Given the description of an element on the screen output the (x, y) to click on. 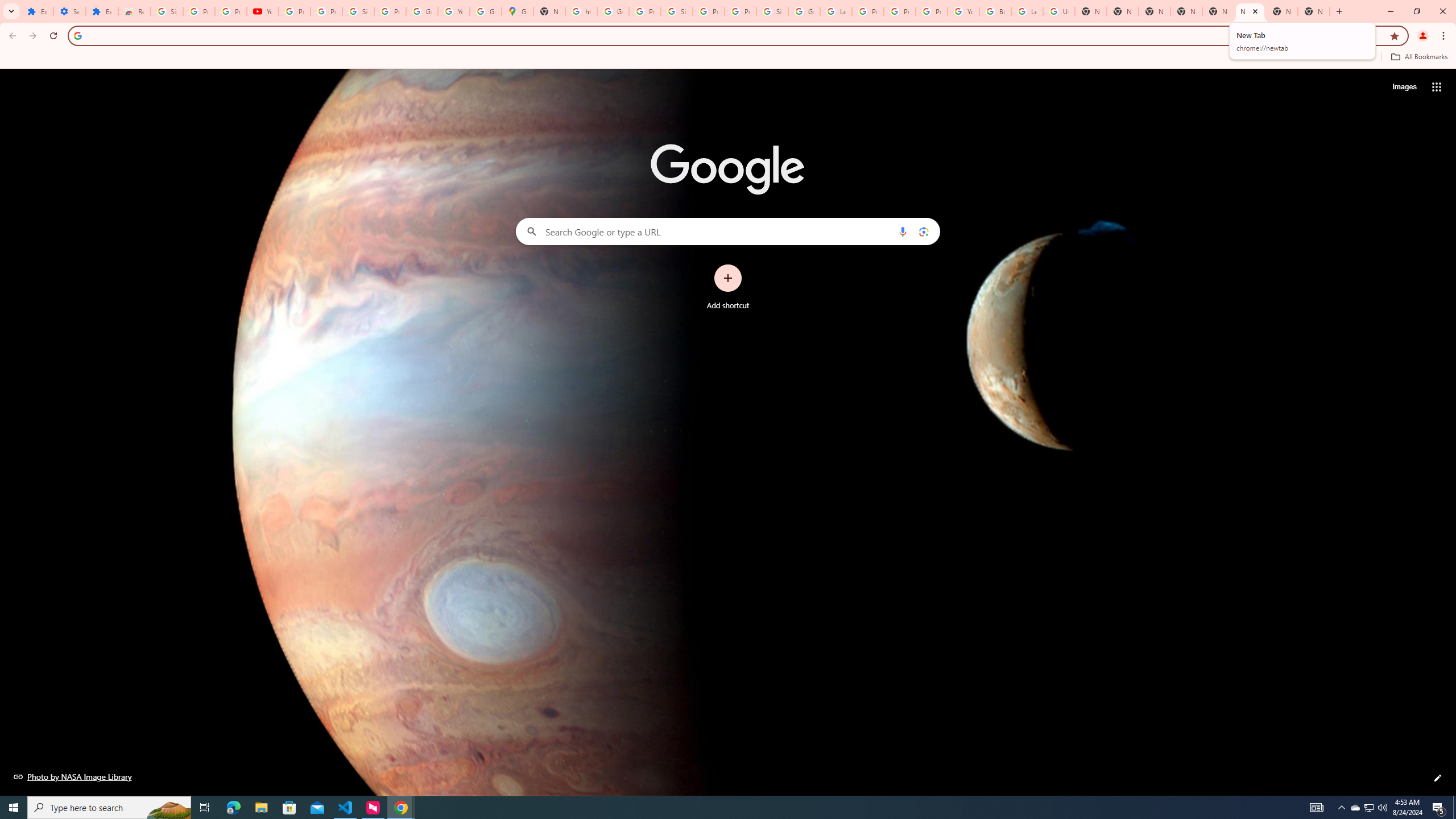
Sign in - Google Accounts (358, 11)
Customize this page (1437, 778)
New Tab (1313, 11)
Privacy Help Center - Policies Help (868, 11)
Extensions (101, 11)
https://scholar.google.com/ (581, 11)
